Given the description of an element on the screen output the (x, y) to click on. 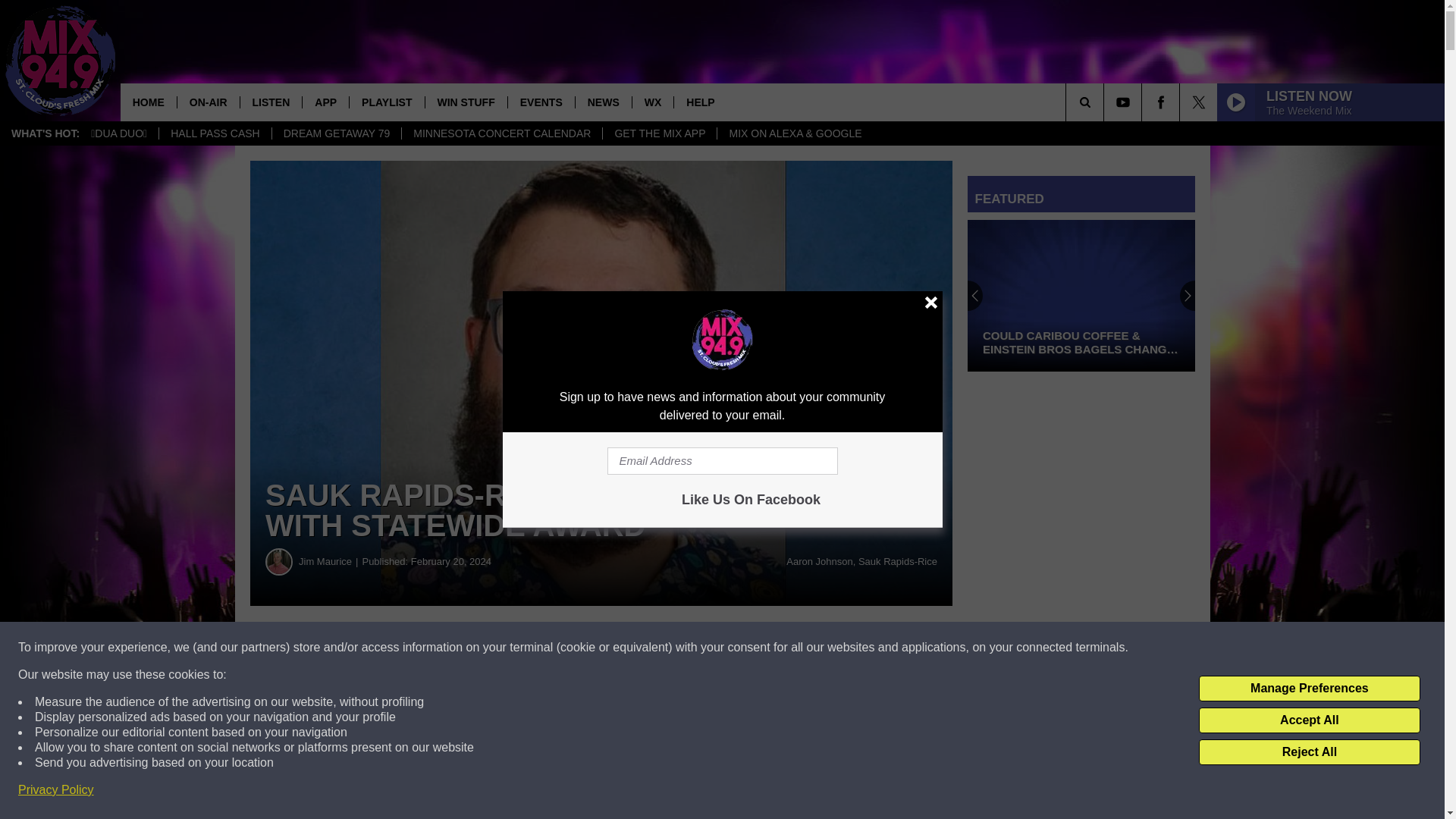
APP (325, 102)
WIN STUFF (465, 102)
HOME (148, 102)
Email Address (600, 806)
GET THE MIX APP (659, 133)
HALL PASS CASH (214, 133)
DREAM GETAWAY 79 (335, 133)
Accept All (1309, 720)
Privacy Policy (55, 789)
SEARCH (1106, 102)
PLAYLIST (386, 102)
MINNESOTA CONCERT CALENDAR (501, 133)
ON-AIR (208, 102)
LISTEN (271, 102)
Email Address (722, 461)
